Given the description of an element on the screen output the (x, y) to click on. 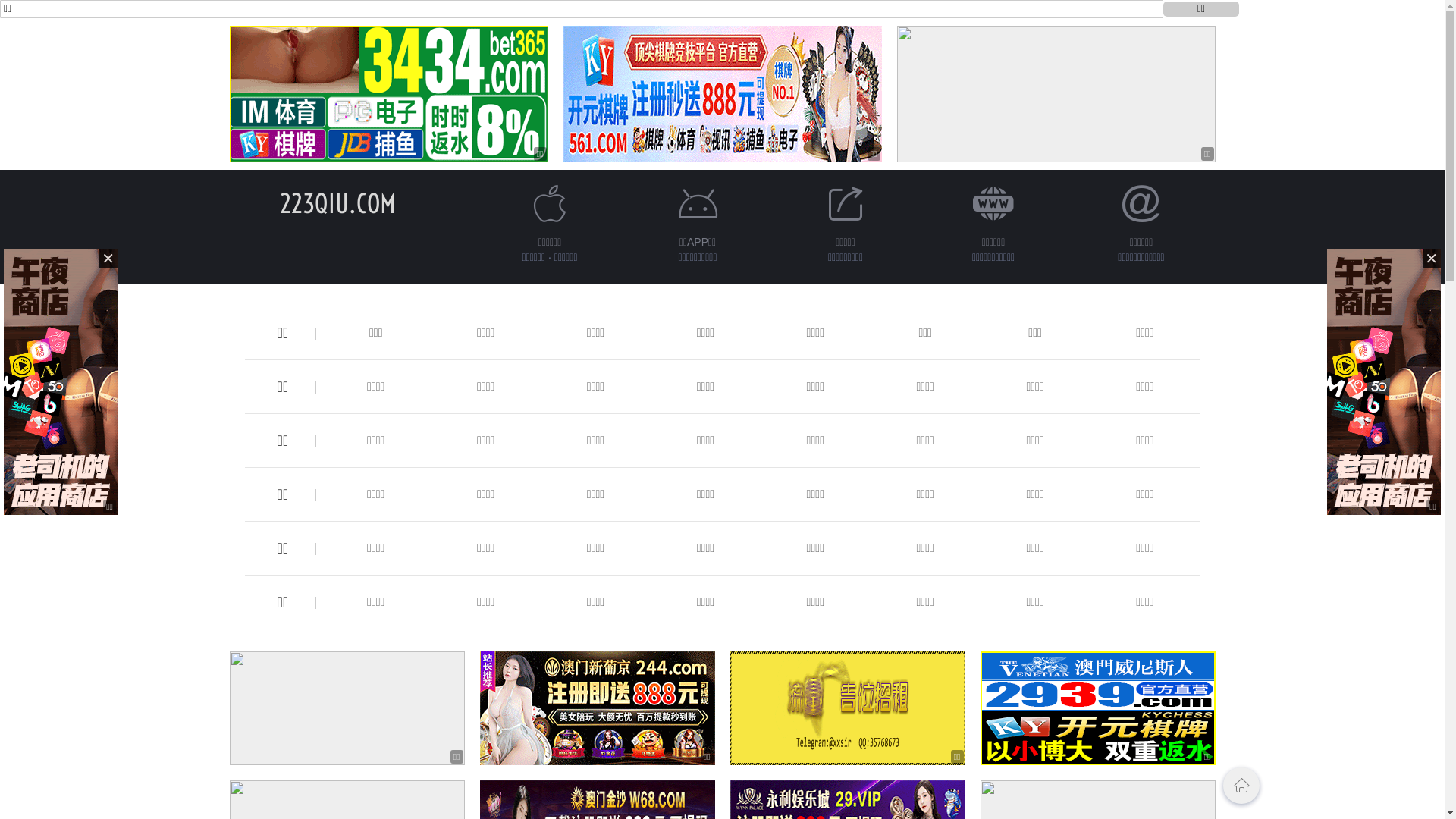
223QIU.COM Element type: text (337, 203)
